Given the description of an element on the screen output the (x, y) to click on. 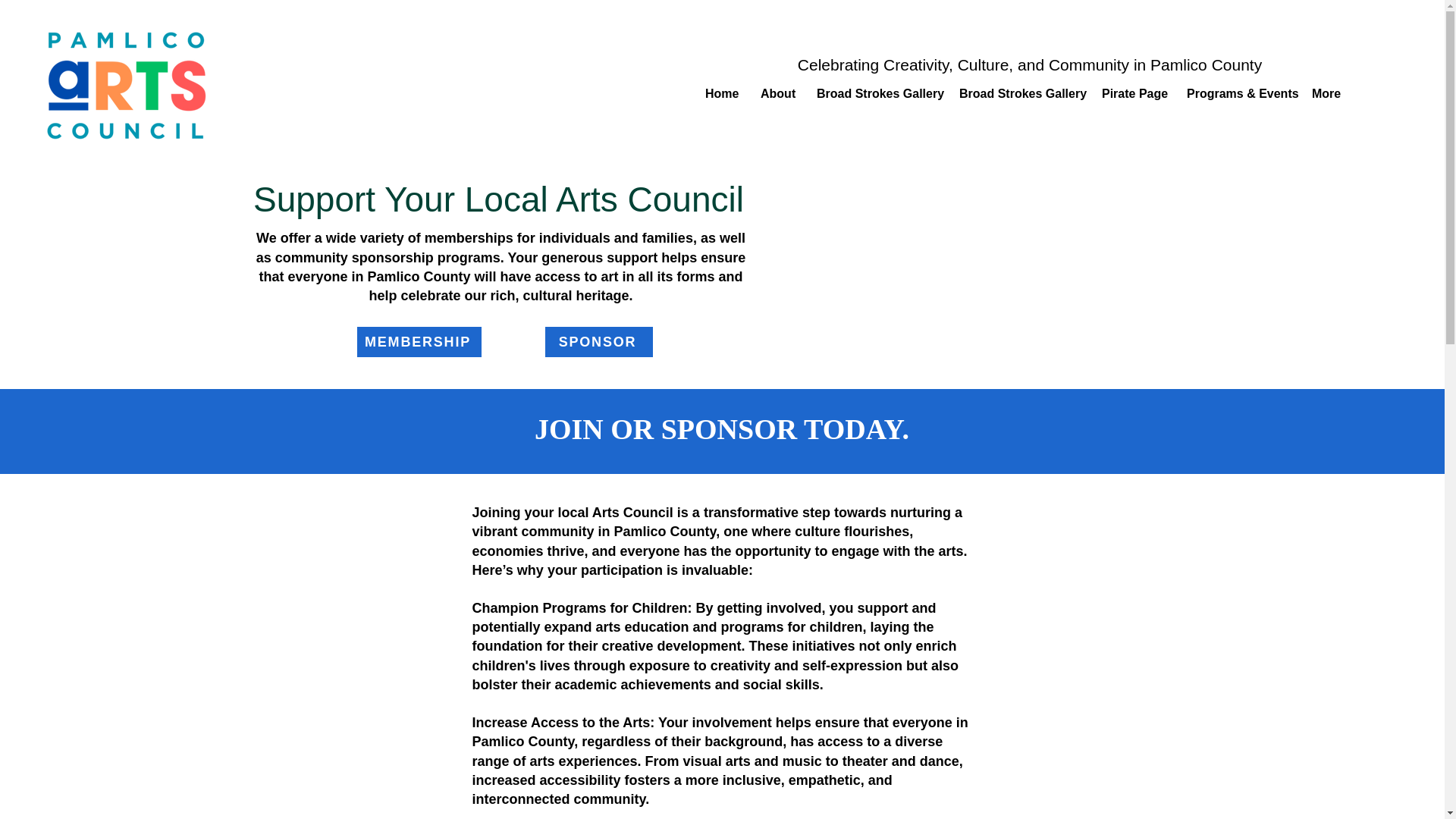
Broad Strokes Gallery (876, 93)
MEMBERSHIP (418, 341)
SPONSOR (598, 341)
Home (721, 93)
Broad Strokes Gallery (1018, 93)
JOIN OR SPONSOR TODAY. (721, 429)
Pirate Page (1132, 93)
About (777, 93)
